Given the description of an element on the screen output the (x, y) to click on. 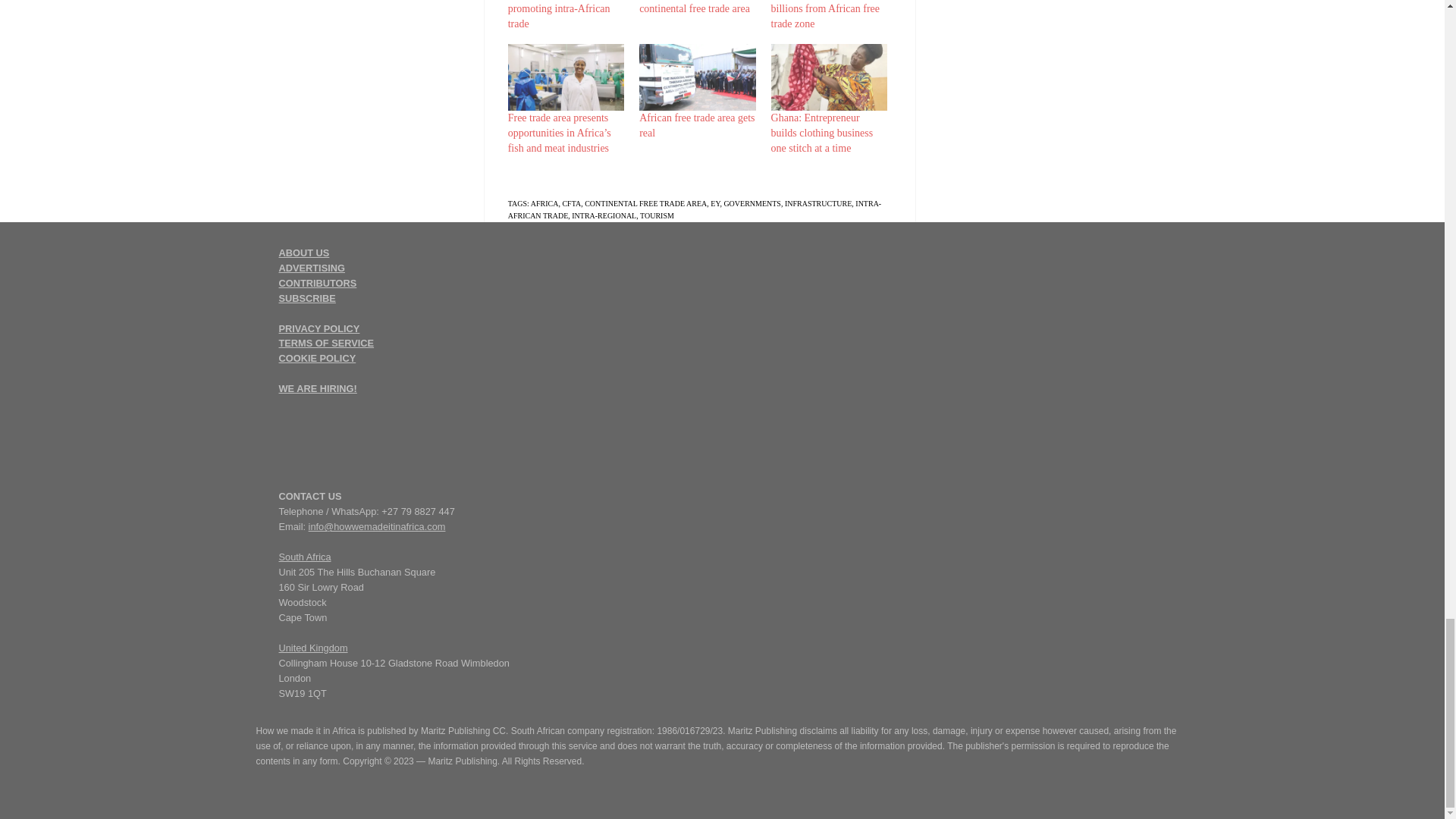
African free trade area gets real (697, 77)
